Given the description of an element on the screen output the (x, y) to click on. 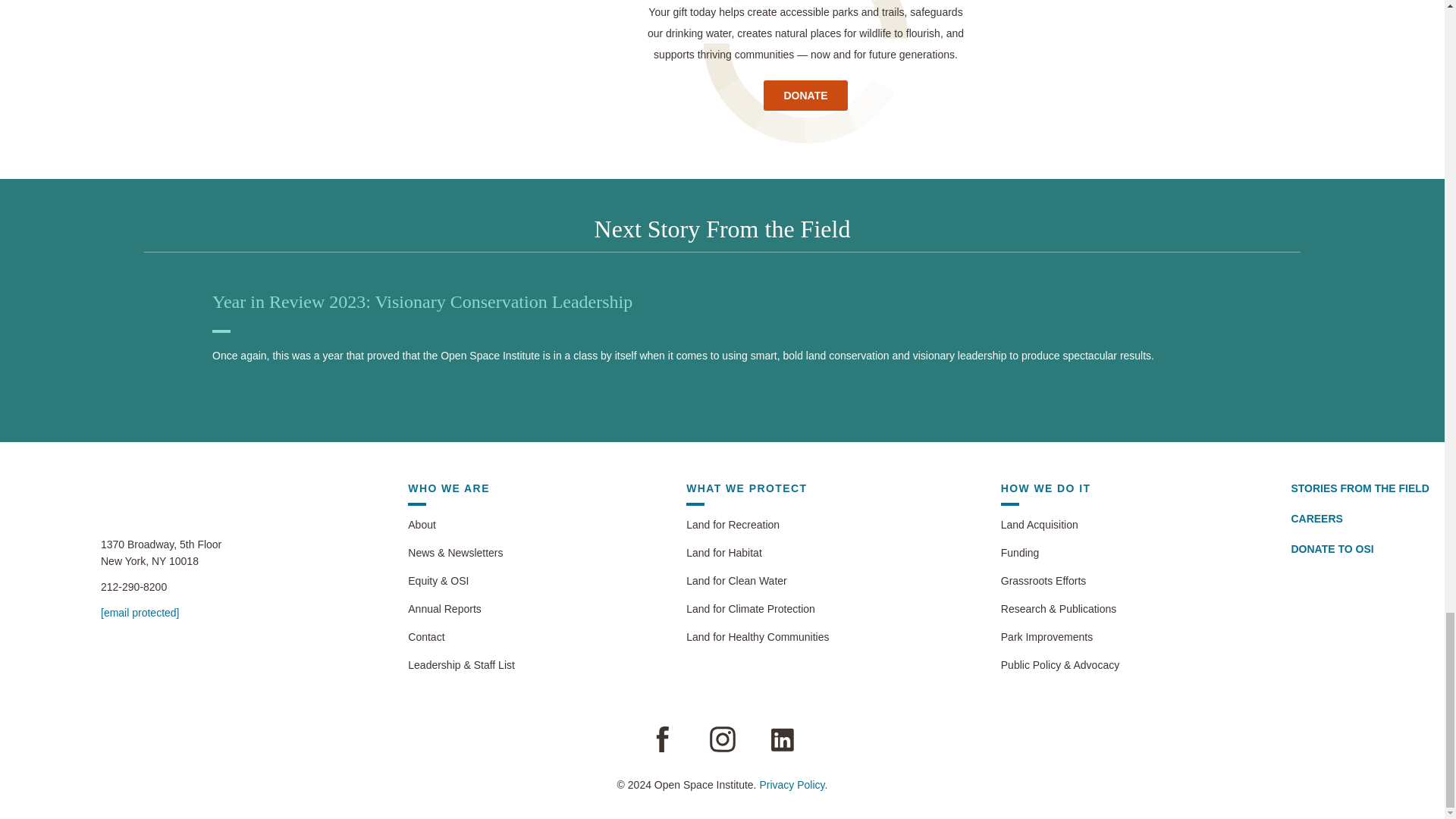
tan-circles (804, 78)
